Given the description of an element on the screen output the (x, y) to click on. 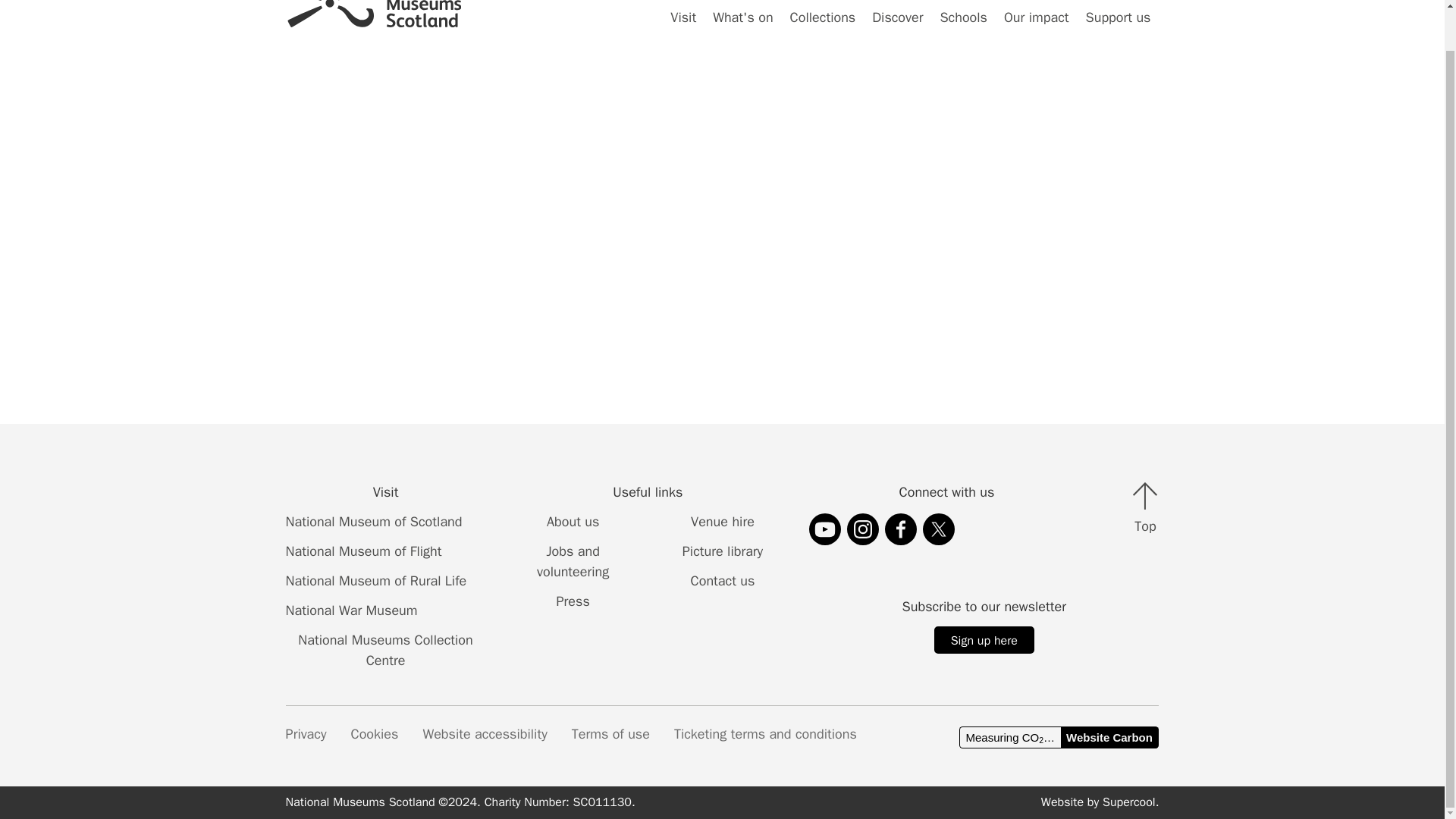
Schools (963, 27)
What's on (742, 27)
National Museums Collection Centre (385, 649)
Our impact (1036, 27)
Discover (897, 27)
About us (572, 521)
National War Museum (351, 610)
Support us (1117, 27)
National Museum of Scotland (374, 521)
National Museum of Flight (363, 551)
